Given the description of an element on the screen output the (x, y) to click on. 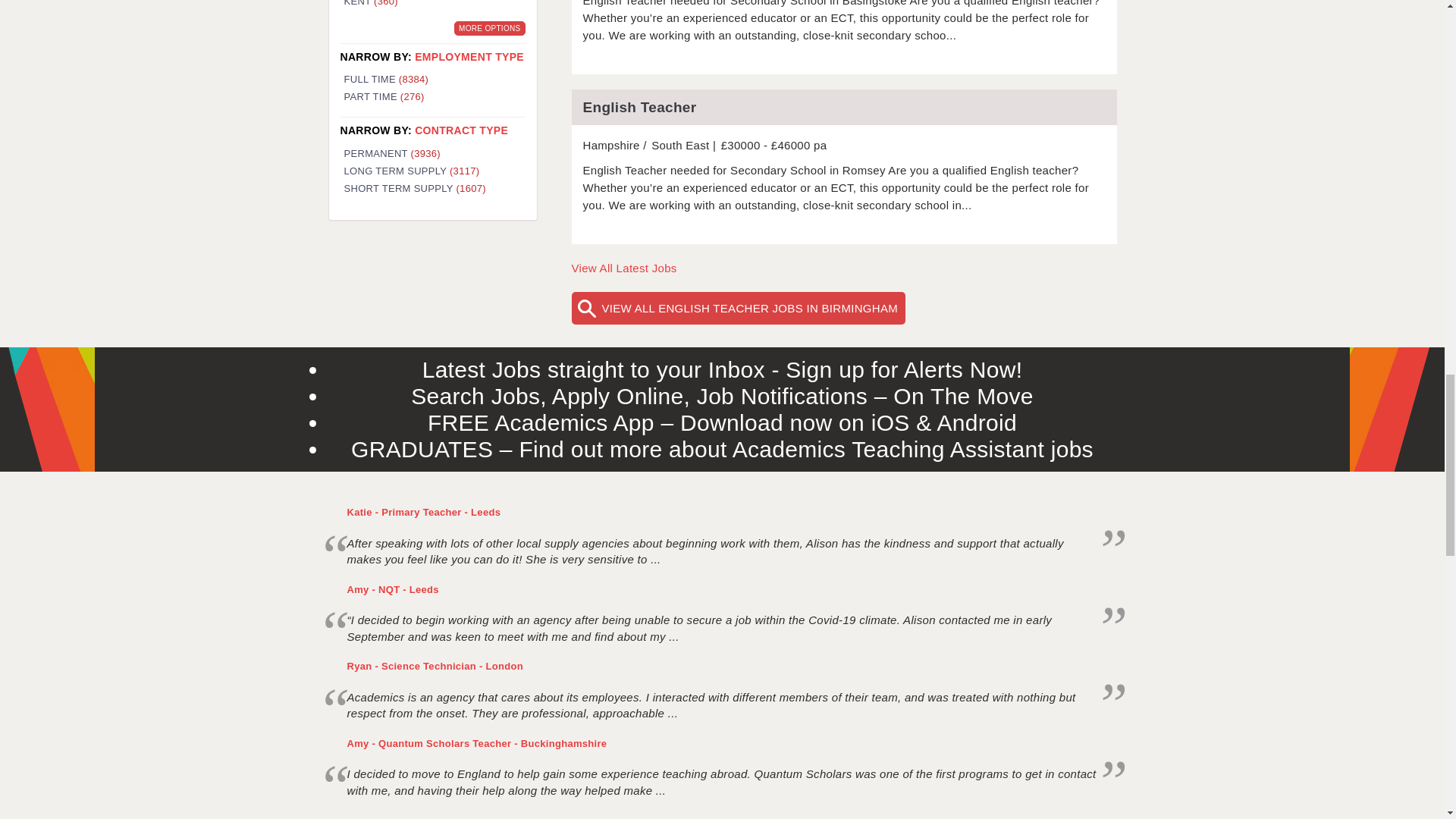
Katie - Primary Teacher - Leeds (423, 511)
English Teacher (844, 107)
Amy - Quantum Scholars Teacher - Buckinghamshire (477, 743)
Ryan - Science Technician - London (434, 665)
Amy - NQT - Leeds (393, 589)
